Given the description of an element on the screen output the (x, y) to click on. 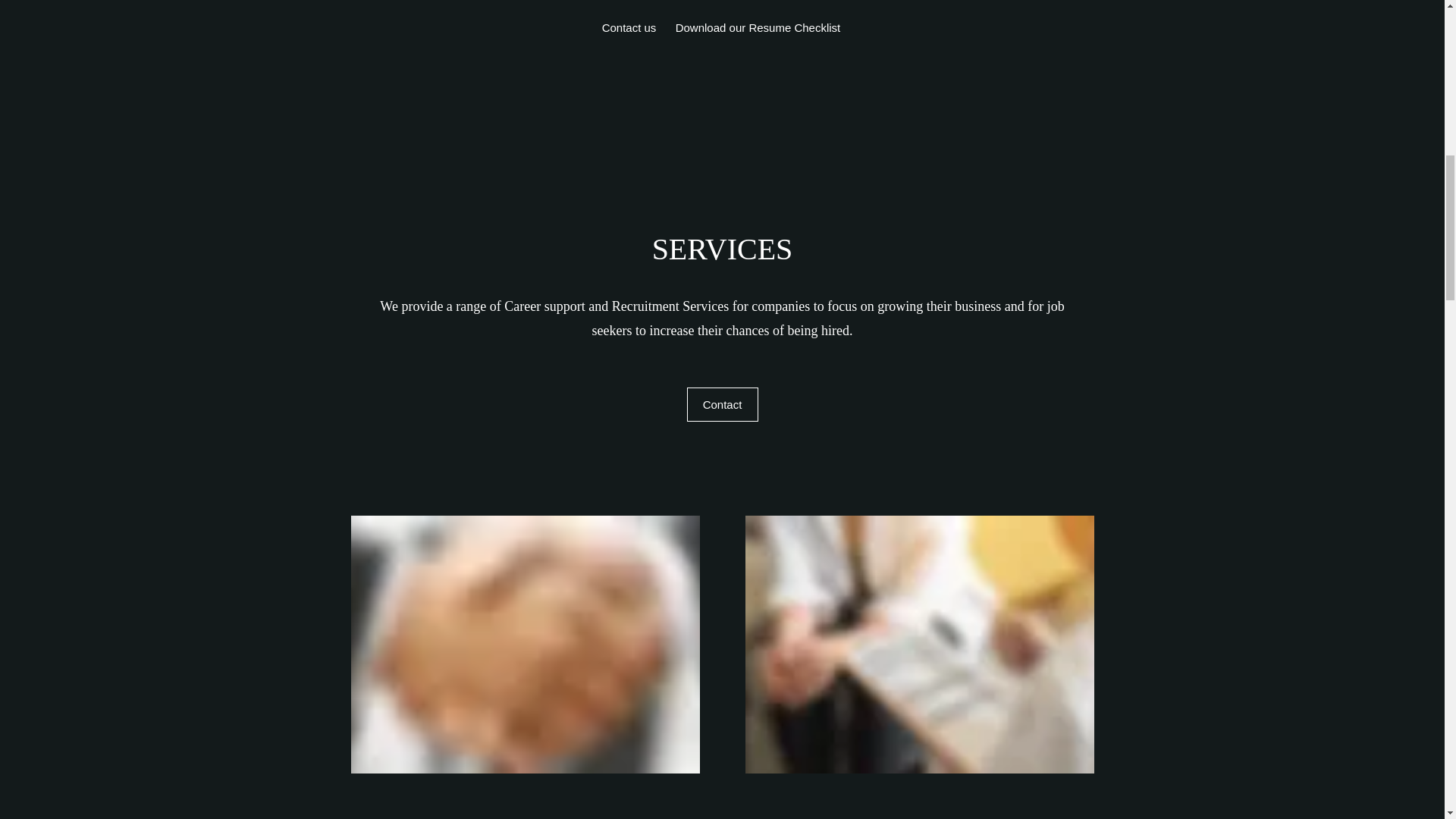
Download our Resume Checklist (757, 27)
Contact us (627, 27)
Contact (722, 404)
